Given the description of an element on the screen output the (x, y) to click on. 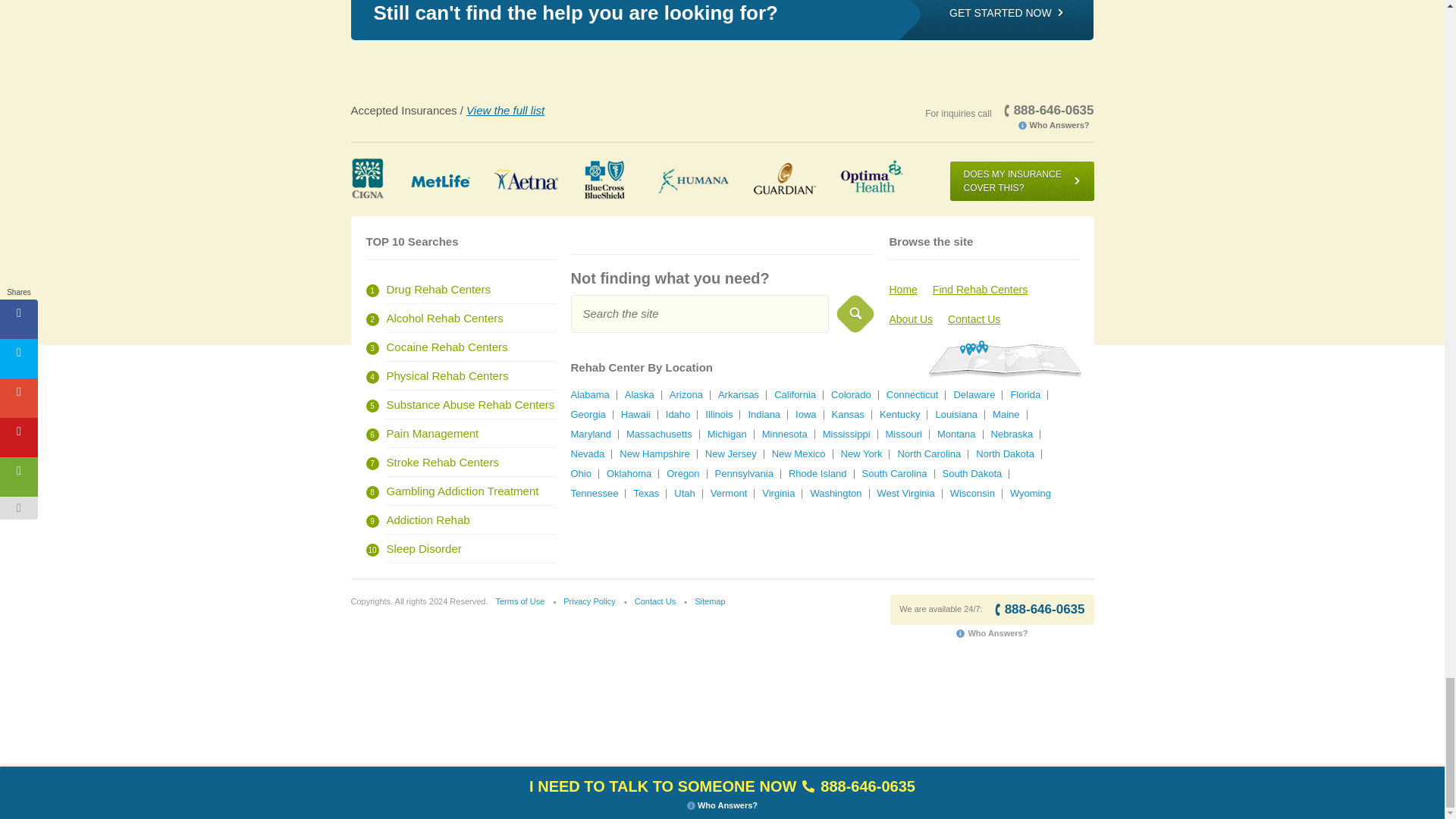
Alaska Rehab Centers (638, 394)
California Rehab Centers (794, 394)
Florida Rehab Centers (1025, 394)
Alabama Rehab Centers (589, 394)
Arizona Rehab Centers (686, 394)
Idaho Rehab Centers (677, 414)
Georgia Rehab Centers (587, 414)
Colorado Rehab Centers (850, 394)
Connecticut Rehab Centers (912, 394)
Arkansas Rehab Centers (737, 394)
Delaware Rehab Centers (973, 394)
Hawaii Rehab Centers (635, 414)
